Given the description of an element on the screen output the (x, y) to click on. 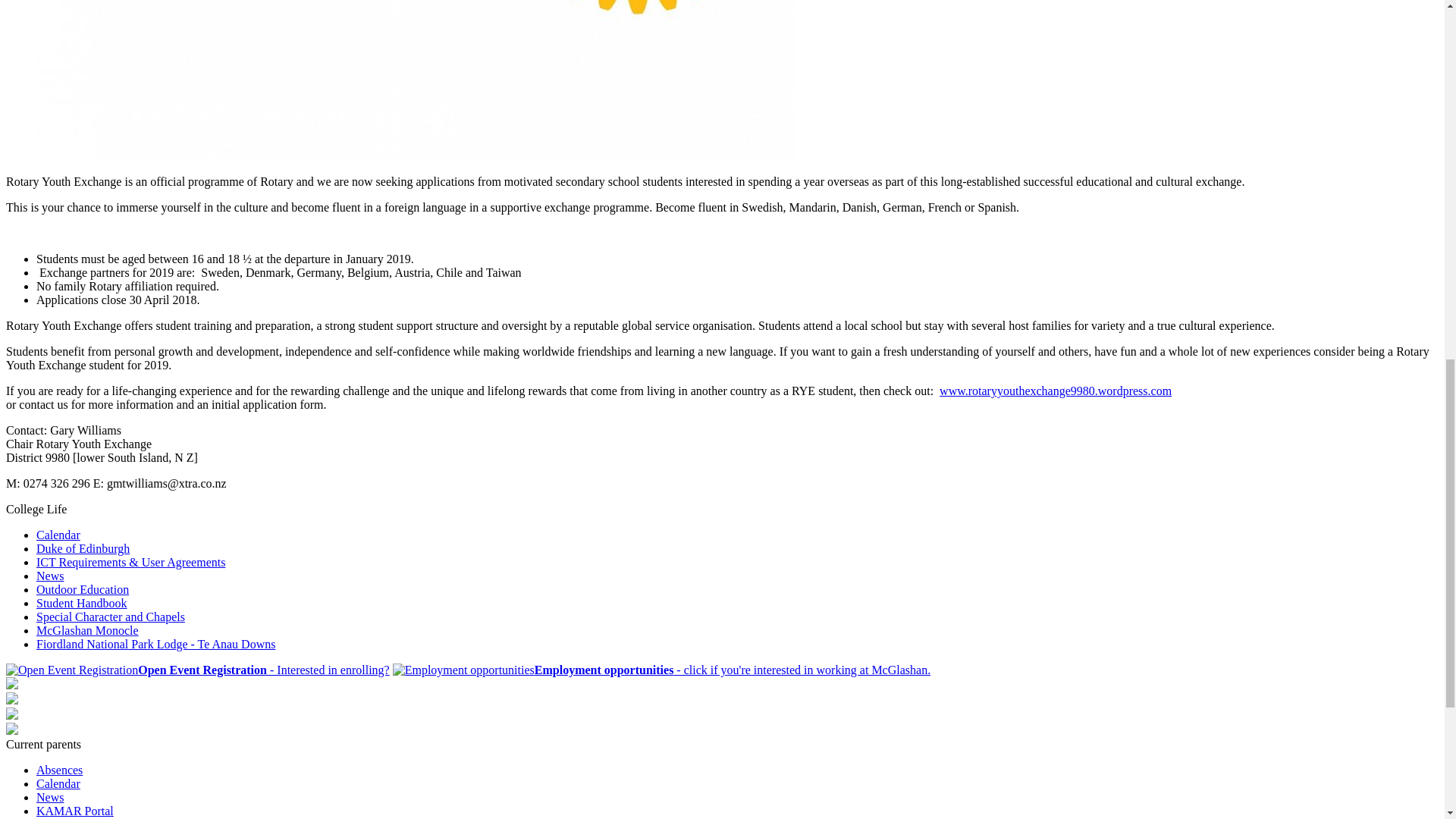
Open Event Registration - Interested in enrolling? (197, 669)
McGlashan Monocle (87, 630)
Fiordland National Park Lodge - Te Anau Downs (155, 644)
www.rotaryyouthexchange9980.wordpress.com (1055, 390)
KAMAR Portal (74, 810)
Calendar (58, 783)
Outdoor Education (82, 589)
Absences (59, 769)
News (50, 575)
Special Character and Chapels (110, 616)
